Given the description of an element on the screen output the (x, y) to click on. 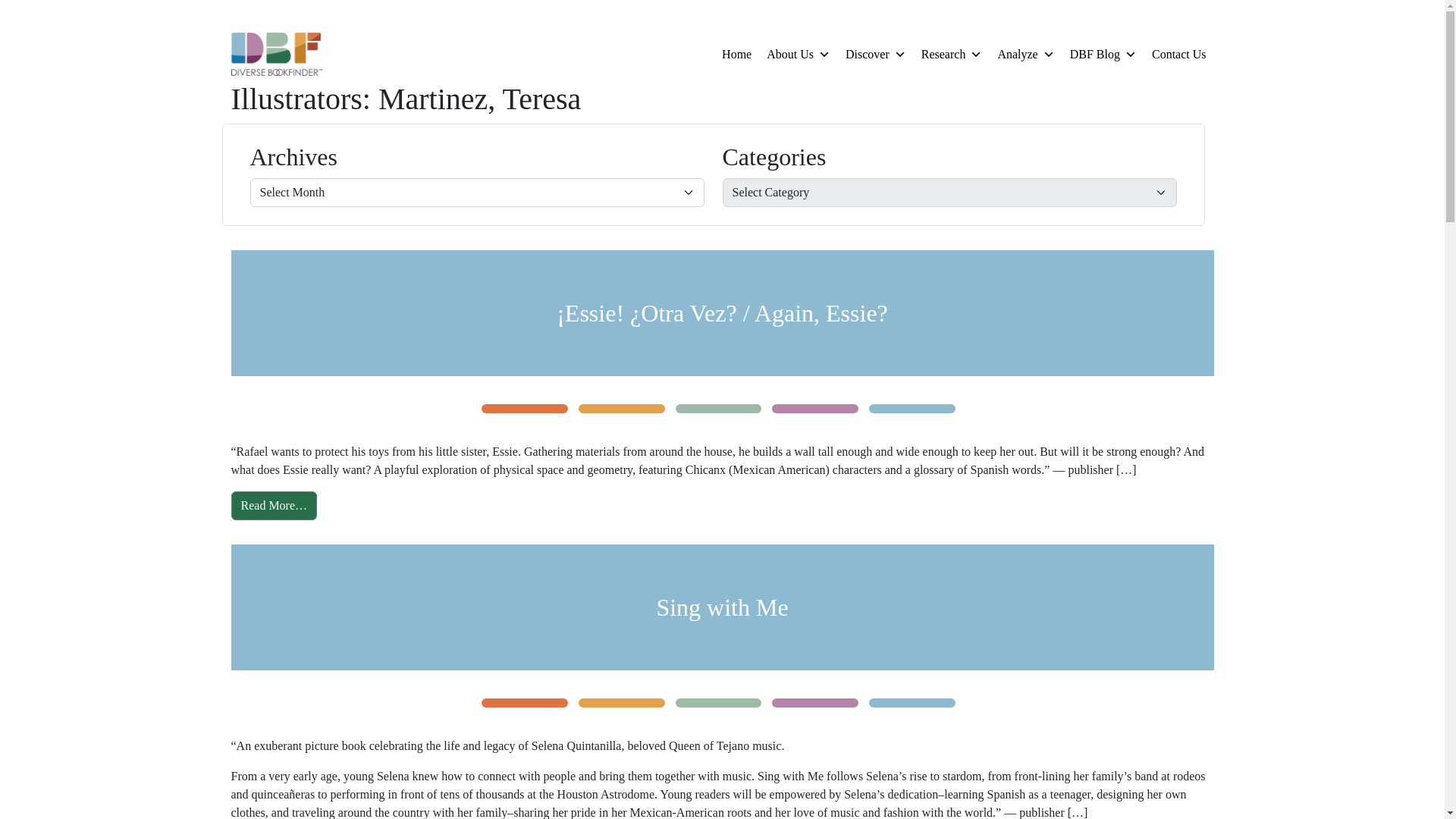
Sing with Me (721, 606)
Research (952, 54)
Analyze (1025, 54)
DBF Blog (1103, 54)
Home (736, 54)
About Us (798, 54)
Discover (876, 54)
Contact Us (1179, 54)
